Given the description of an element on the screen output the (x, y) to click on. 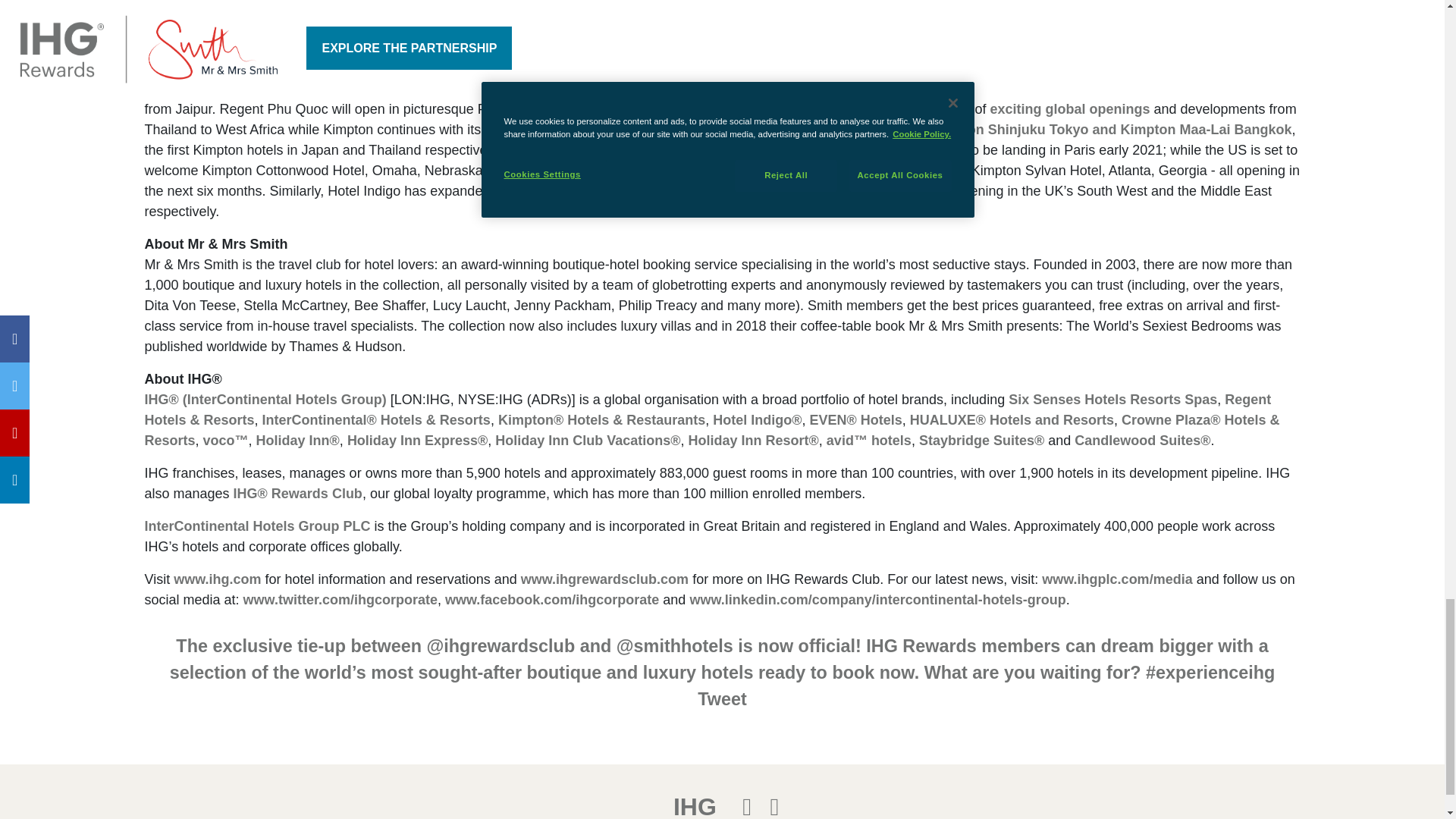
Six Senses Fort Barwara (1028, 88)
Six Senses Shaharut (470, 88)
Six Senses Hotels Resorts Spas (1113, 399)
www.ihg.com (216, 579)
Bath (747, 191)
exciting global openings (1070, 109)
InterContinental Hotels Group PLC (256, 525)
IHG (264, 399)
Kimpton Shinjuku Tokyo and Kimpton Maa-Lai Bangkok (1110, 129)
Bath (747, 191)
Six Senses Fort Barwara (1028, 88)
exciting global openings (1070, 109)
Dubai (826, 191)
Dubai (826, 191)
Six Senses Hotels Resorts Spas (1113, 399)
